Given the description of an element on the screen output the (x, y) to click on. 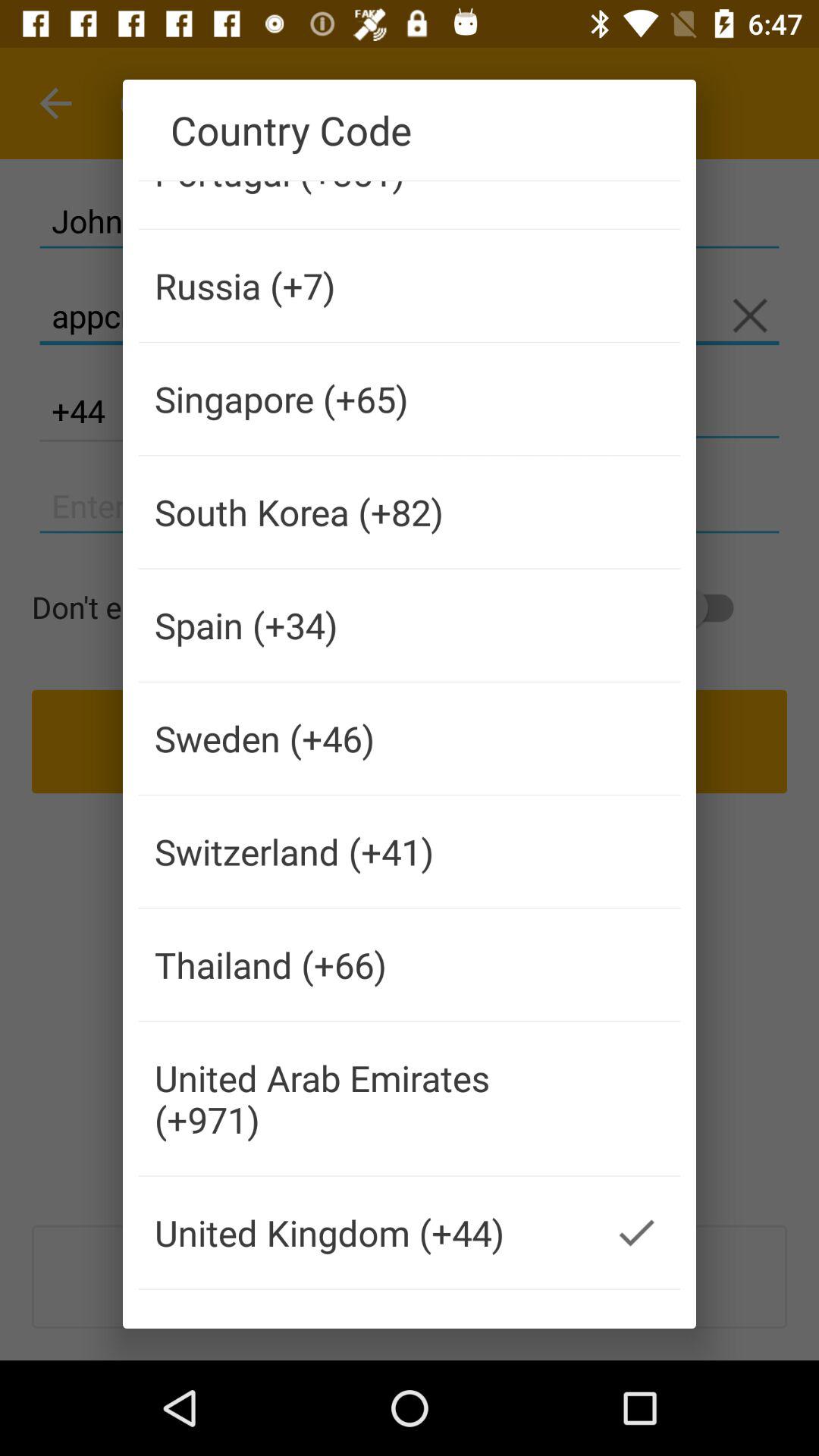
turn off the icon above united kingdom (+44) (365, 1098)
